Given the description of an element on the screen output the (x, y) to click on. 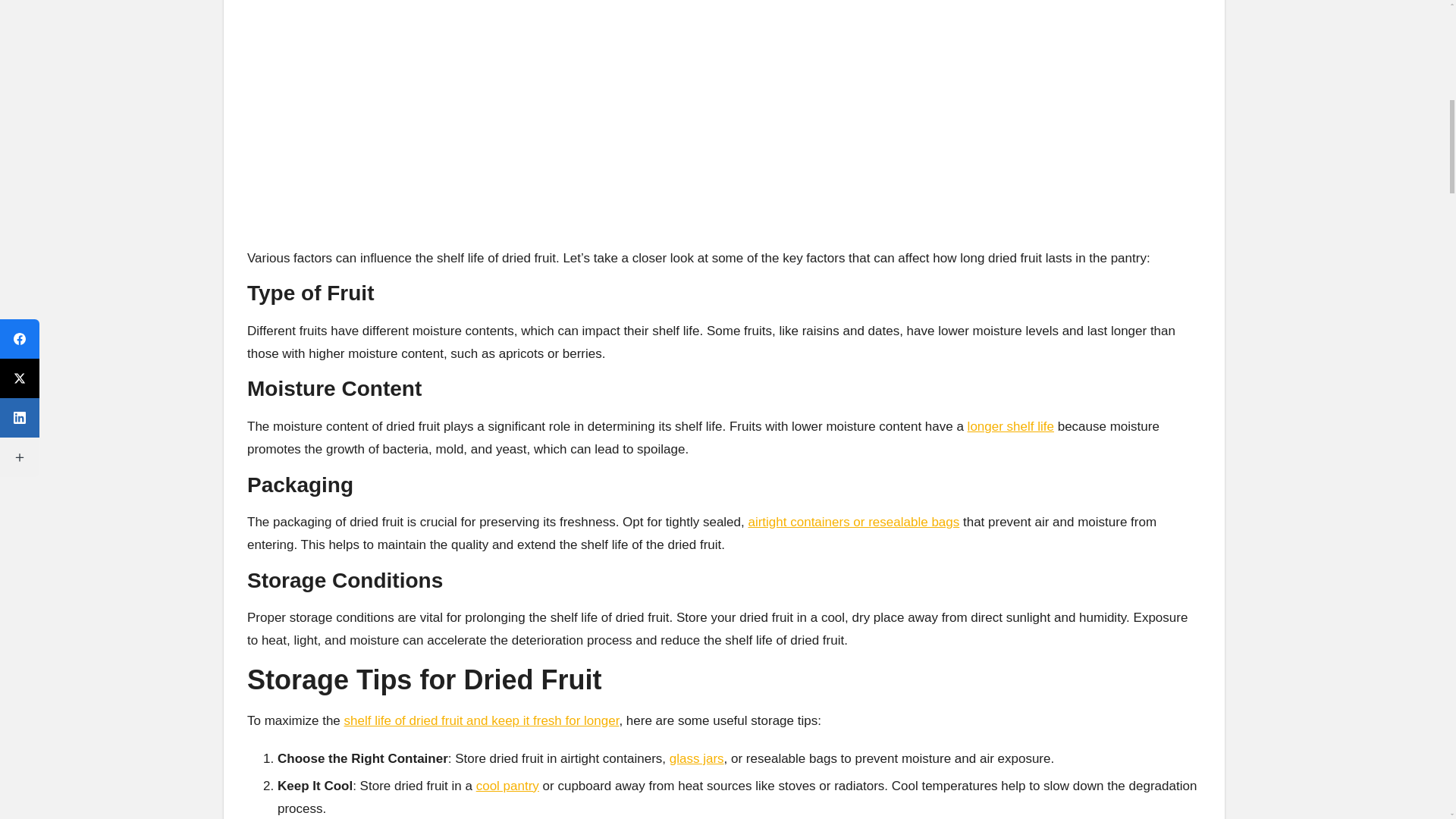
How Long Does Dried Fruit Last in the Pantry? 1 (723, 115)
